Given the description of an element on the screen output the (x, y) to click on. 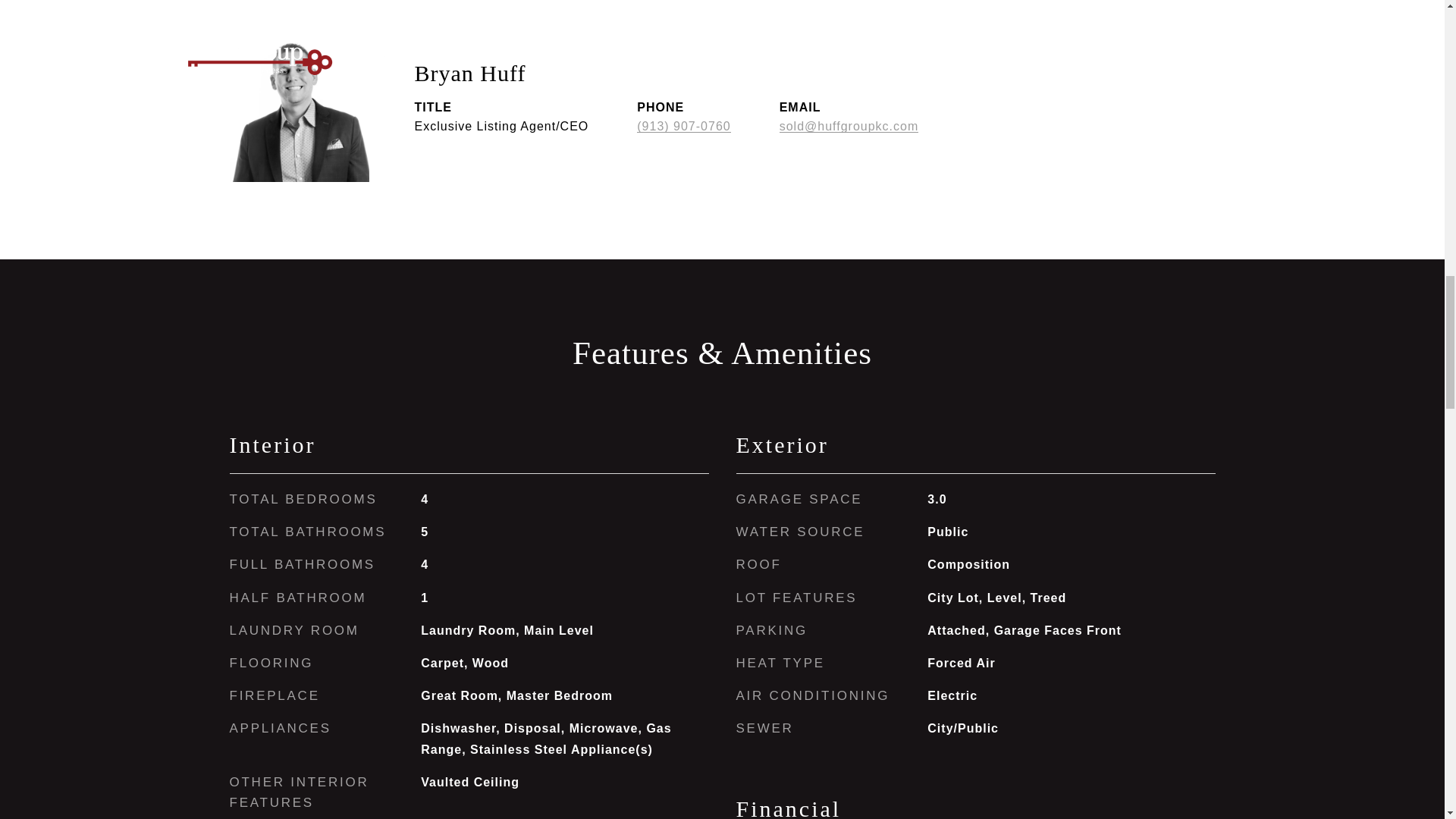
CONTACT AGENT (1055, 119)
